Given the description of an element on the screen output the (x, y) to click on. 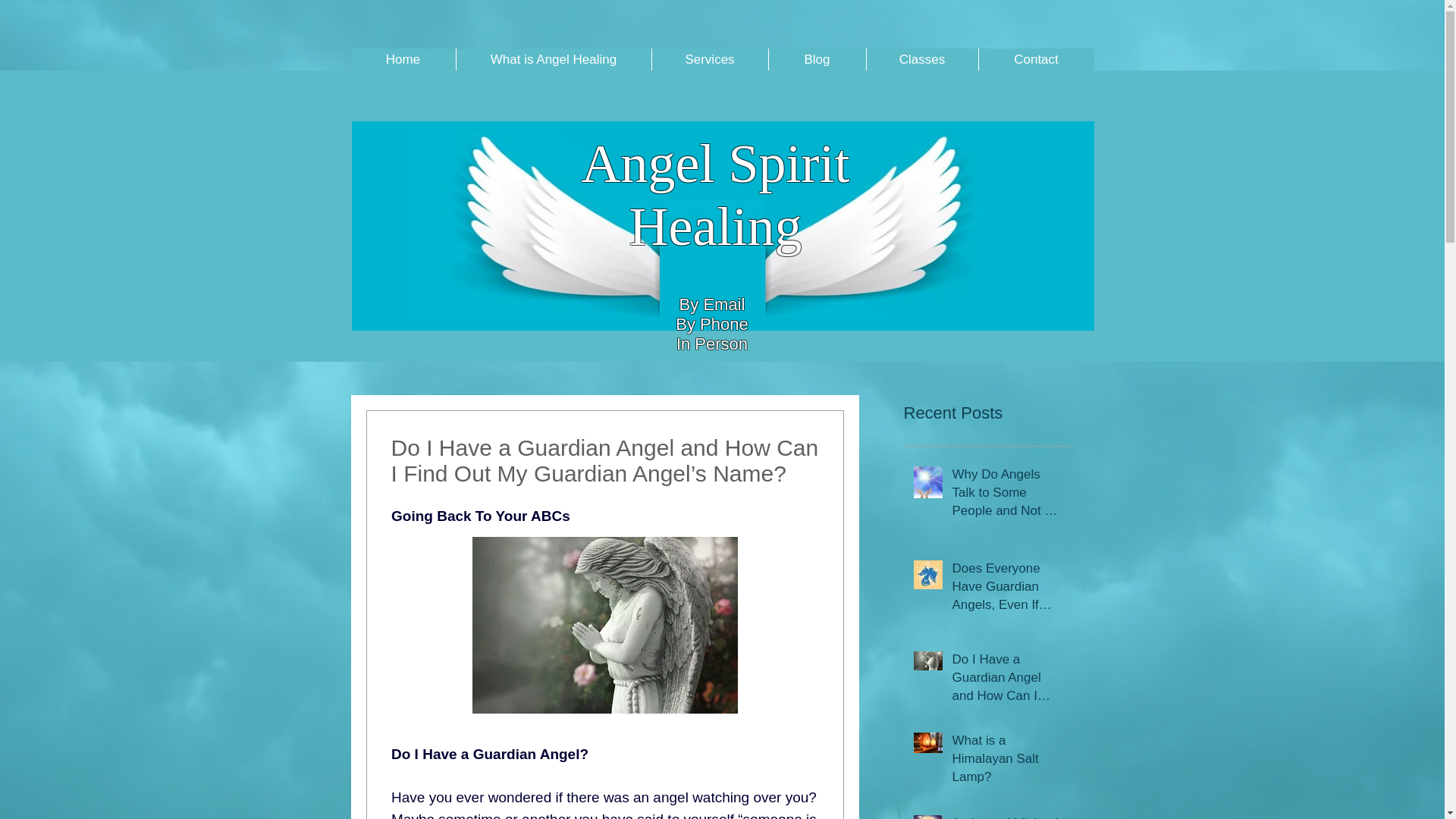
Why Do Angels Talk to Some People and Not To Others? (1006, 495)
What is a Himalayan Salt Lamp? (1006, 761)
Archangel Michael is the Great Protector (1006, 816)
Classes (922, 59)
What is Angel Healing (552, 59)
Services (708, 59)
Blog (815, 59)
Home (402, 59)
Contact (1036, 59)
